Given the description of an element on the screen output the (x, y) to click on. 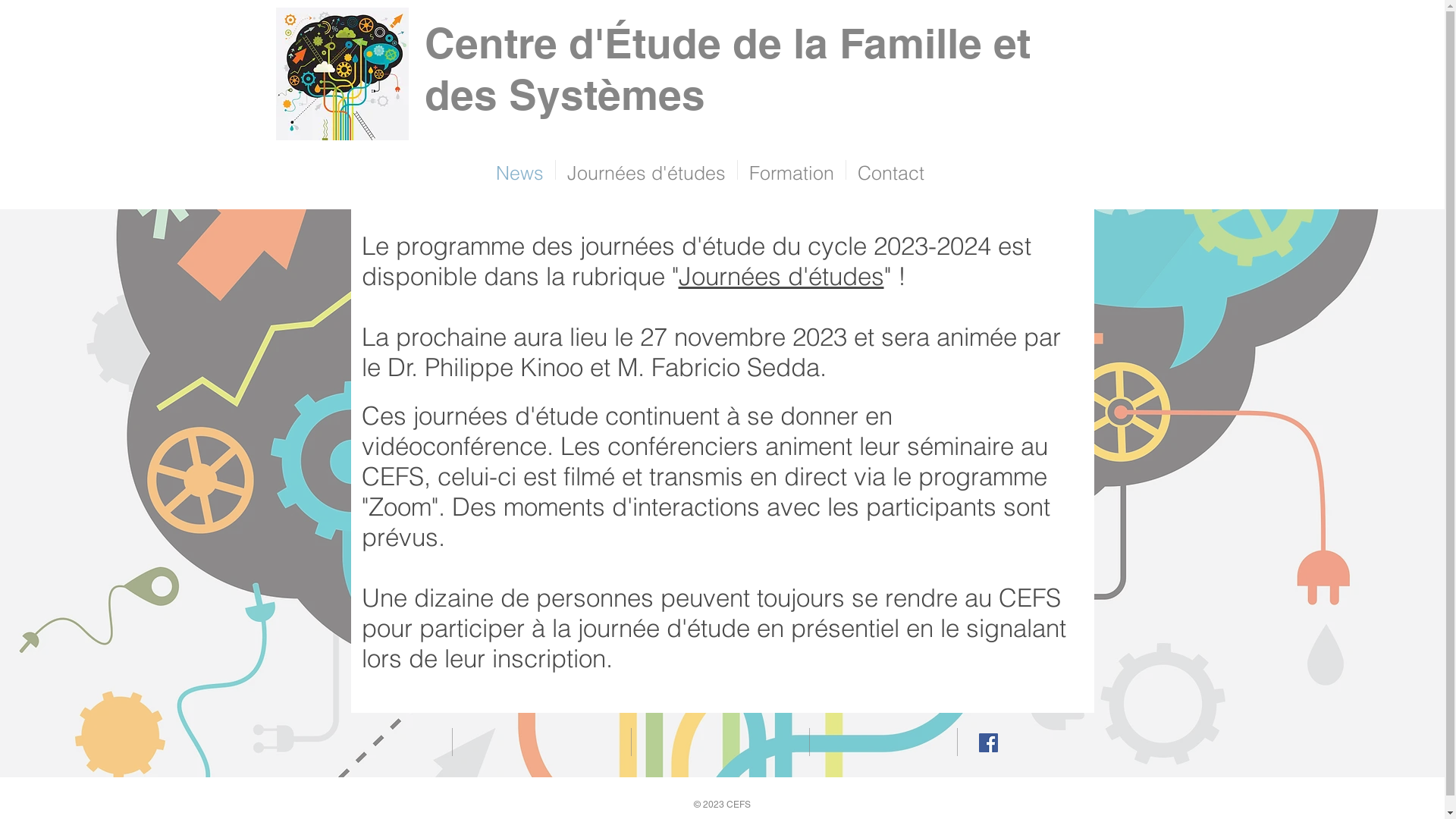
Formation Element type: text (791, 169)
Contact Element type: text (890, 169)
News Element type: text (519, 169)
